Given the description of an element on the screen output the (x, y) to click on. 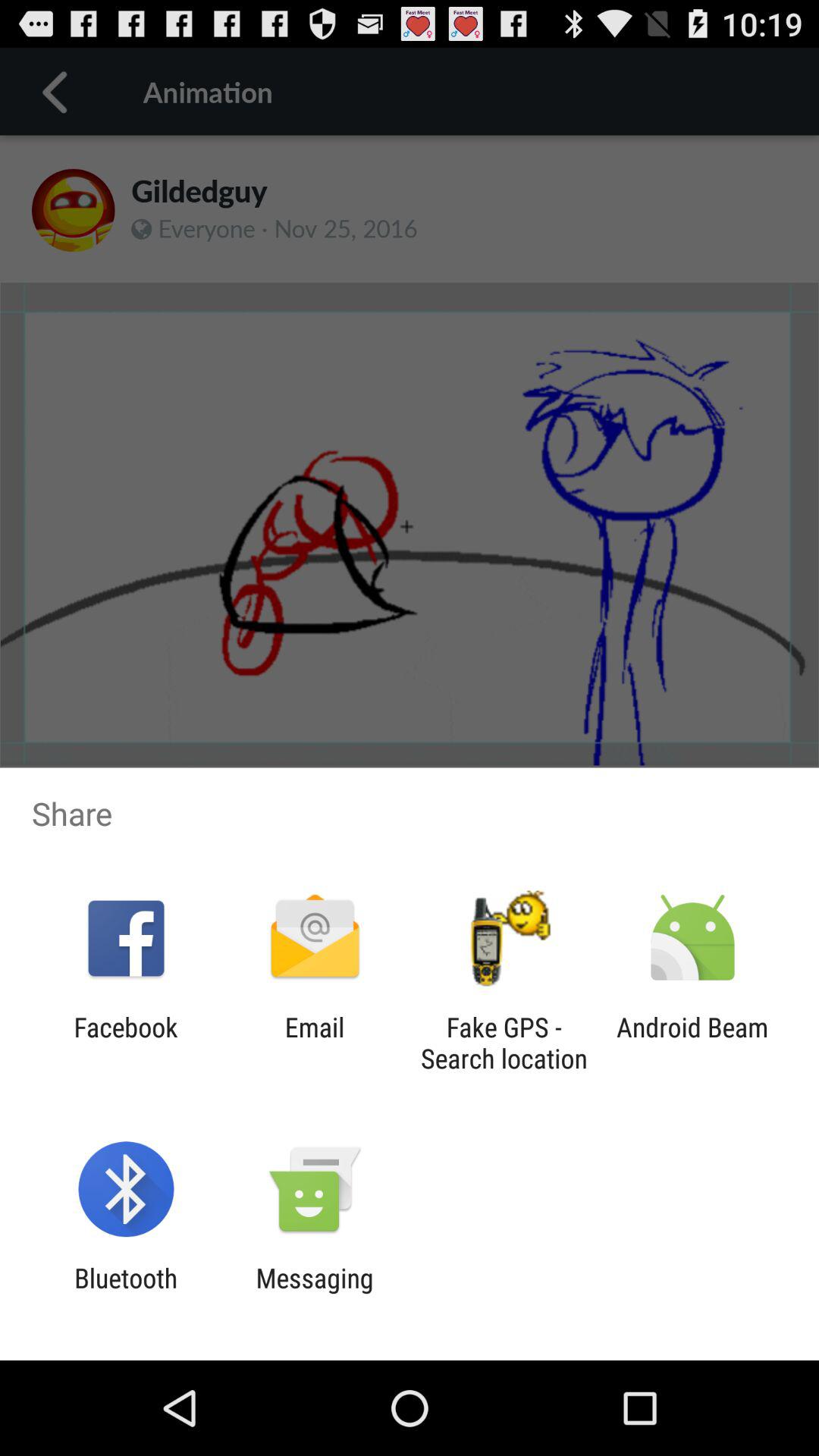
click item next to email (503, 1042)
